Given the description of an element on the screen output the (x, y) to click on. 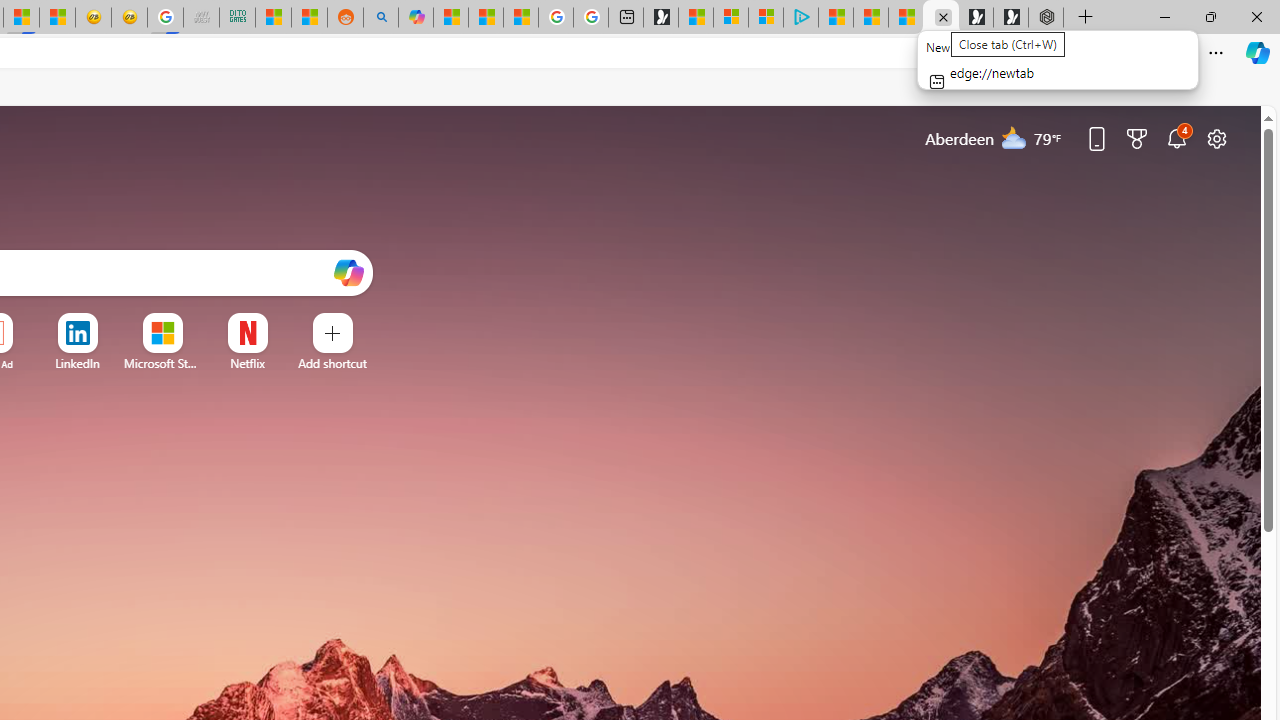
These 3 Stocks Pay You More Than 5% to Own Them (905, 17)
Microsoft Copilot in Bing (415, 17)
Page settings (1216, 138)
